Given the description of an element on the screen output the (x, y) to click on. 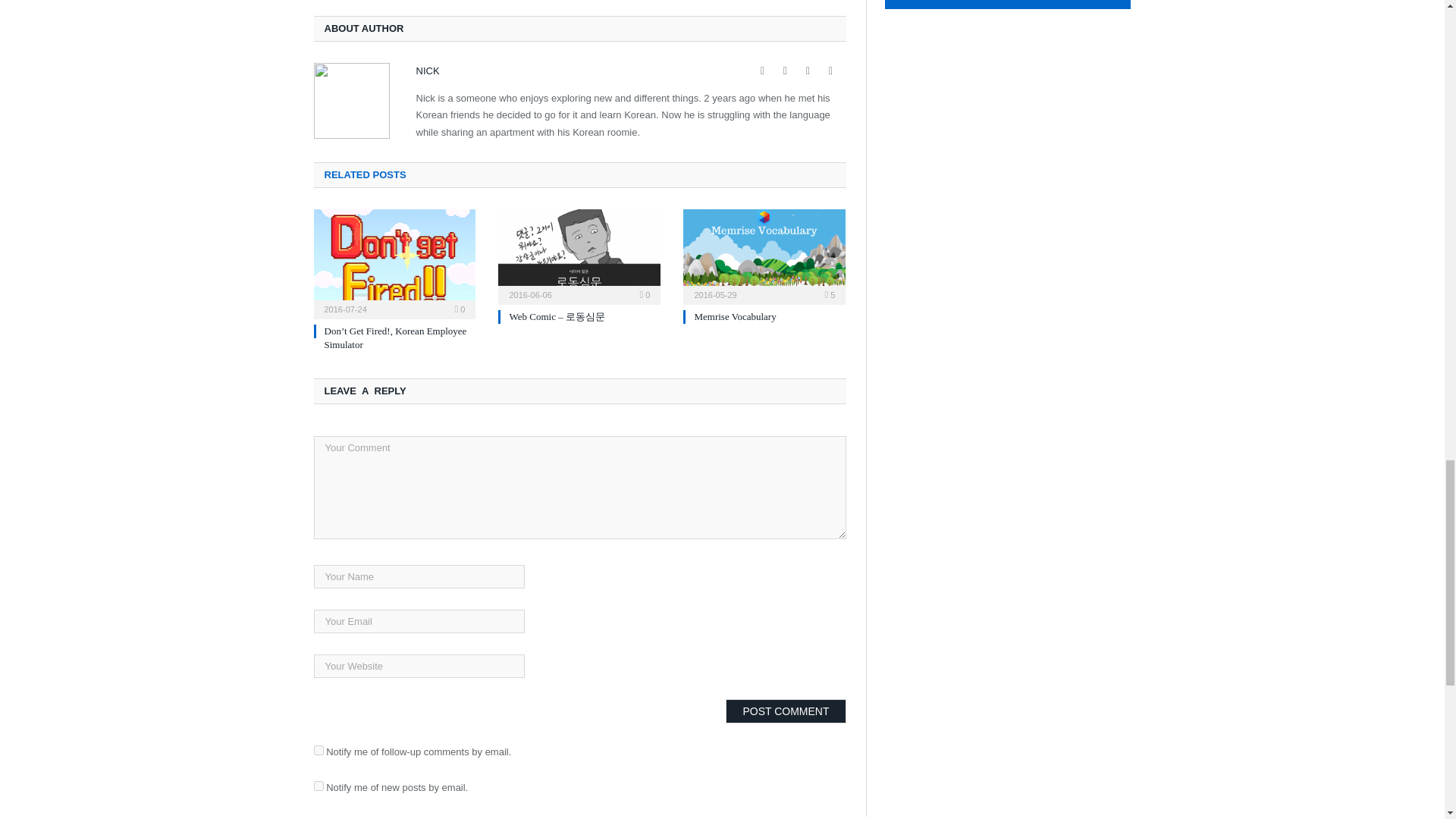
subscribe (318, 750)
Post Comment (785, 711)
subscribe (318, 786)
